Given the description of an element on the screen output the (x, y) to click on. 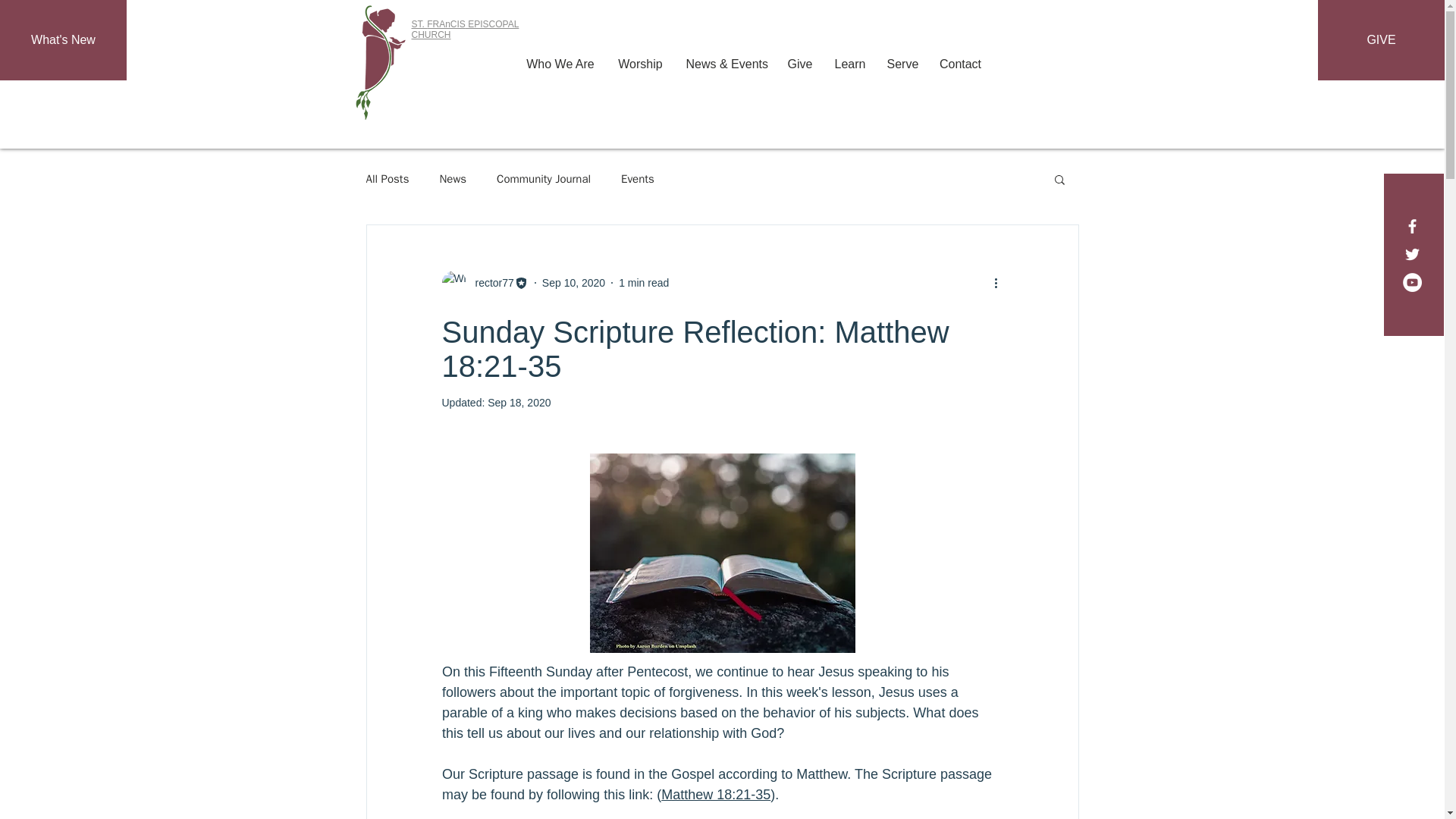
Worship (641, 64)
Serve (901, 64)
ST. (418, 23)
Sep 10, 2020 (573, 282)
Give (800, 64)
FRAnCIS (445, 23)
rector77 (489, 282)
News (452, 178)
Learn (850, 64)
Who We Are (559, 64)
Sep 18, 2020 (518, 402)
1 min read (643, 282)
EPISCOPAL CHURCH (464, 29)
All Posts (387, 178)
What's New (63, 40)
